Given the description of an element on the screen output the (x, y) to click on. 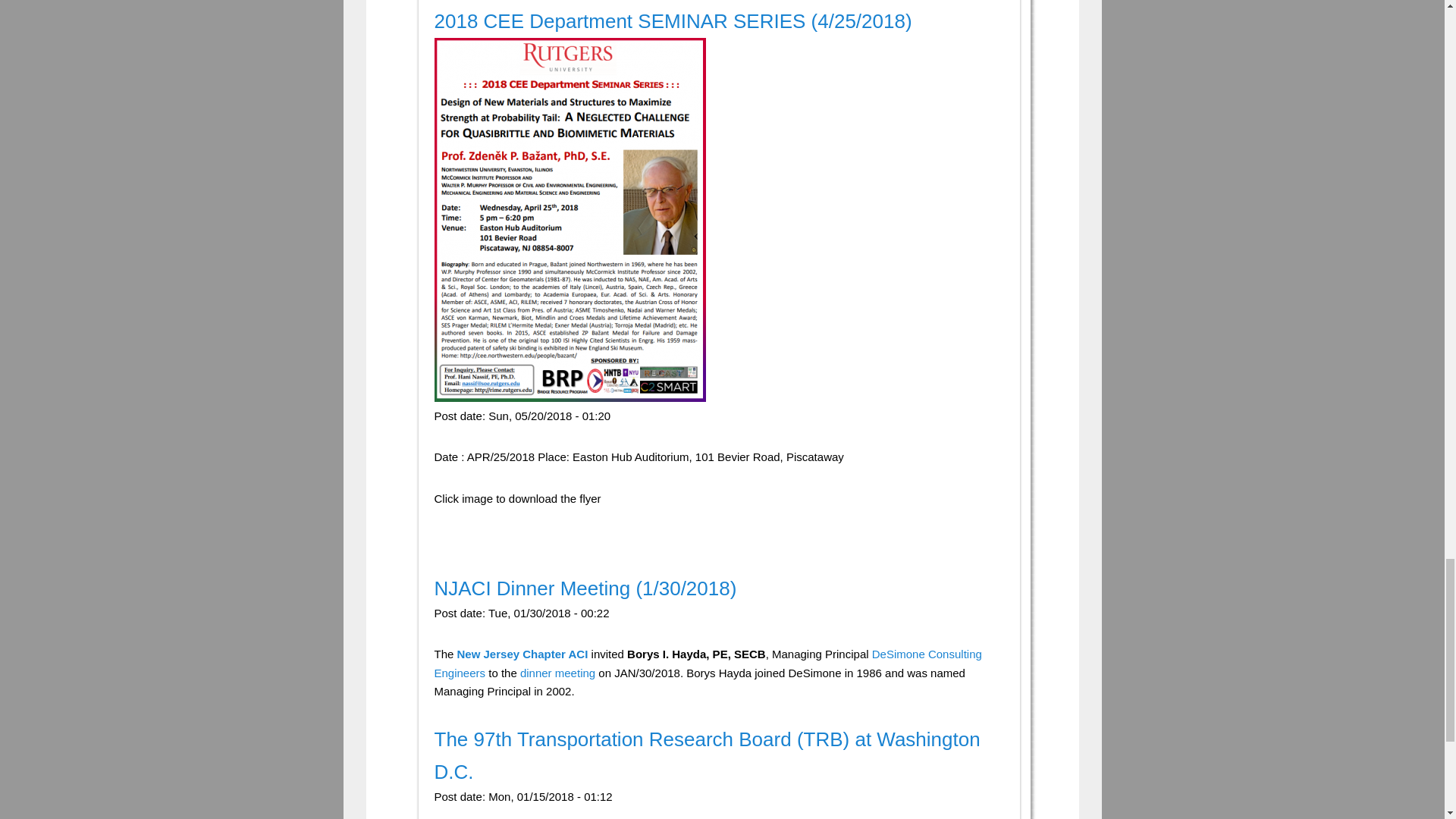
dinner meeting (558, 672)
DeSimone Consulting Engineers (707, 662)
New Jersey Chapter ACI (522, 653)
